Given the description of an element on the screen output the (x, y) to click on. 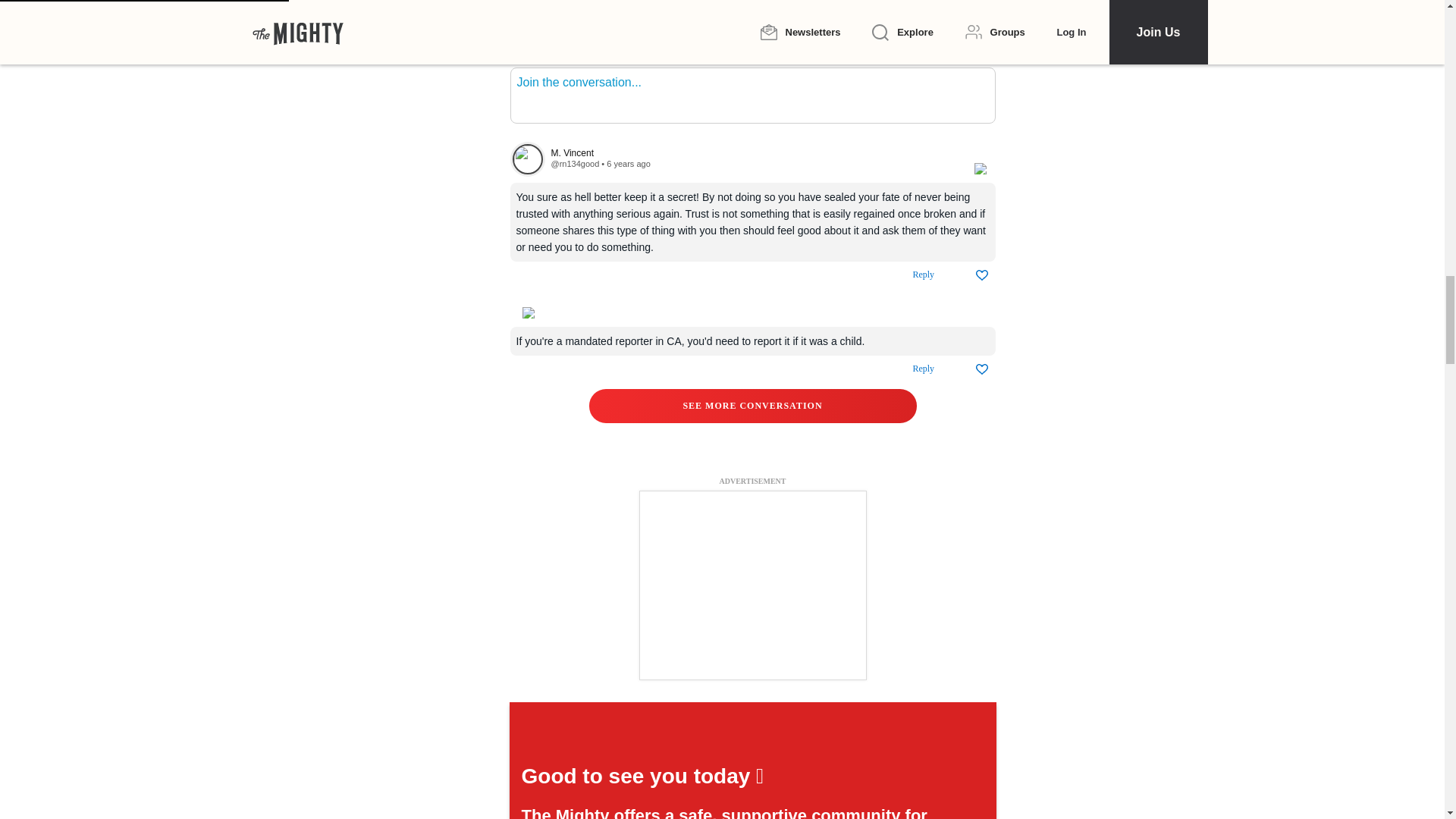
9.1K (537, 48)
View their profile (754, 153)
View their profile (574, 163)
View their profile (526, 158)
